Given the description of an element on the screen output the (x, y) to click on. 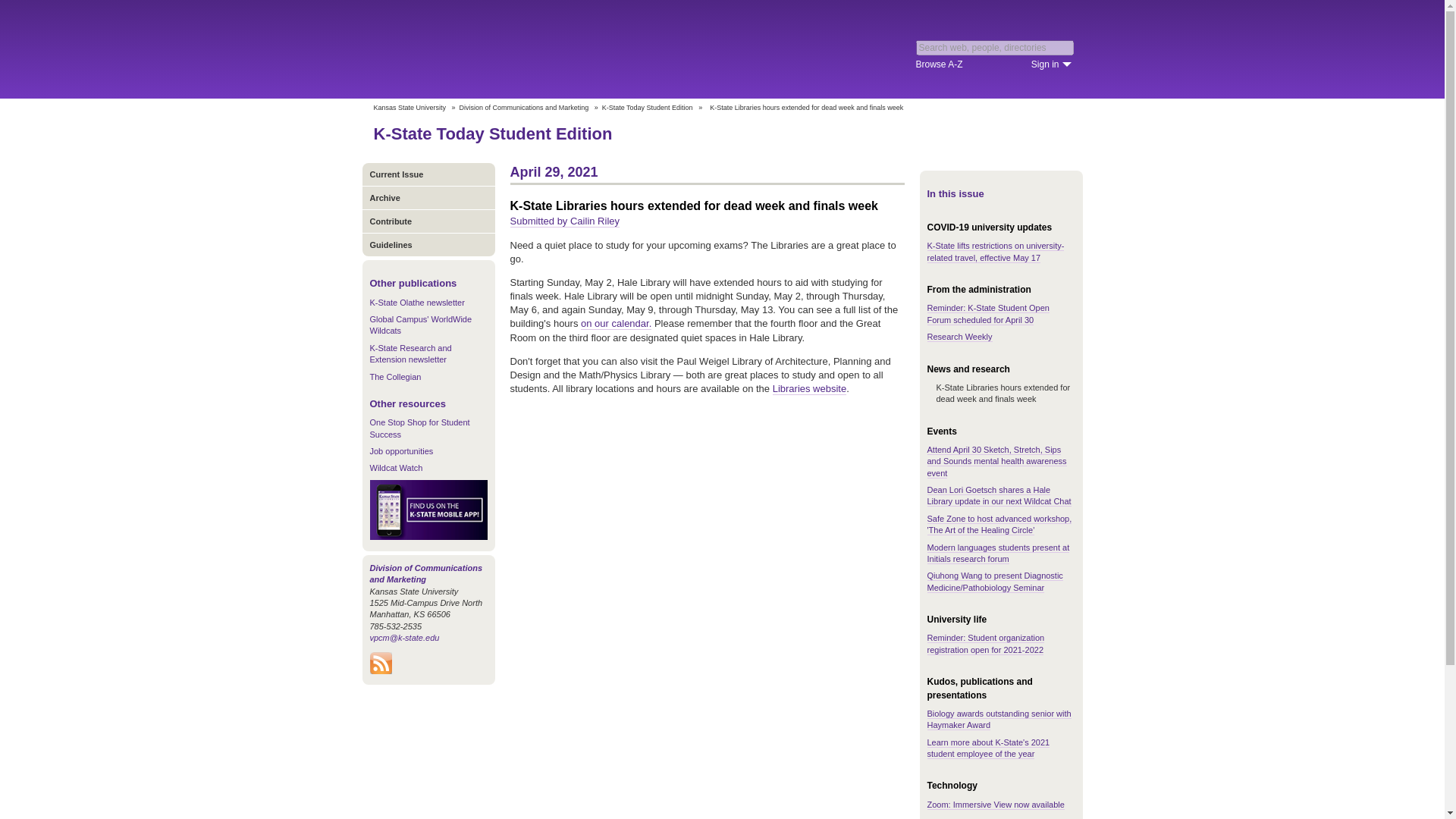
Global Campus' WorldWide Wildcats (420, 324)
K-State Today Student Edition (647, 107)
Submitted by Cailin Riley (564, 221)
Contribute (428, 220)
K-State Olathe newsletter (416, 302)
Search web, people, directories (994, 47)
